Given the description of an element on the screen output the (x, y) to click on. 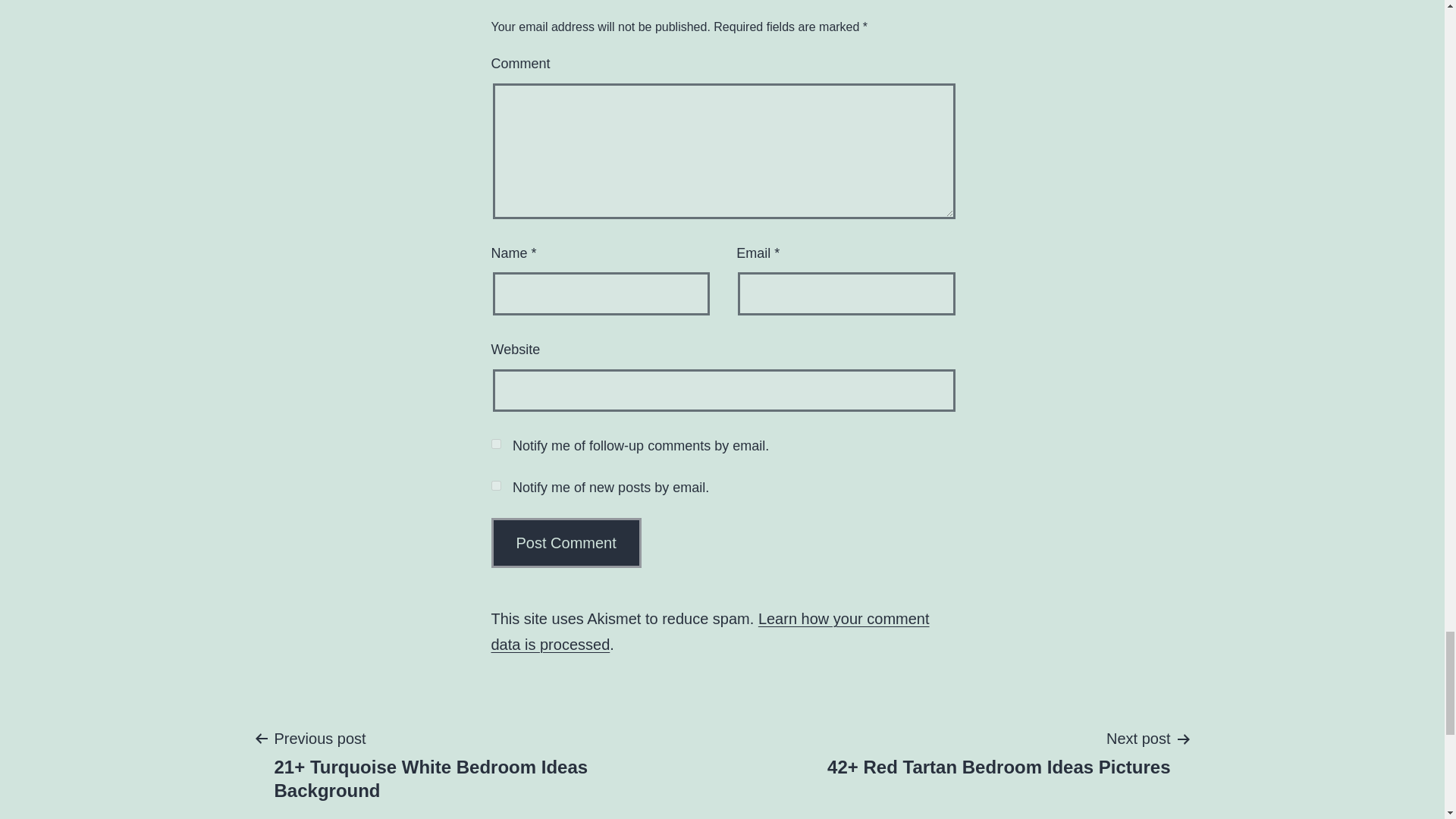
Post Comment (567, 542)
Learn how your comment data is processed (711, 631)
Post Comment (567, 542)
